Given the description of an element on the screen output the (x, y) to click on. 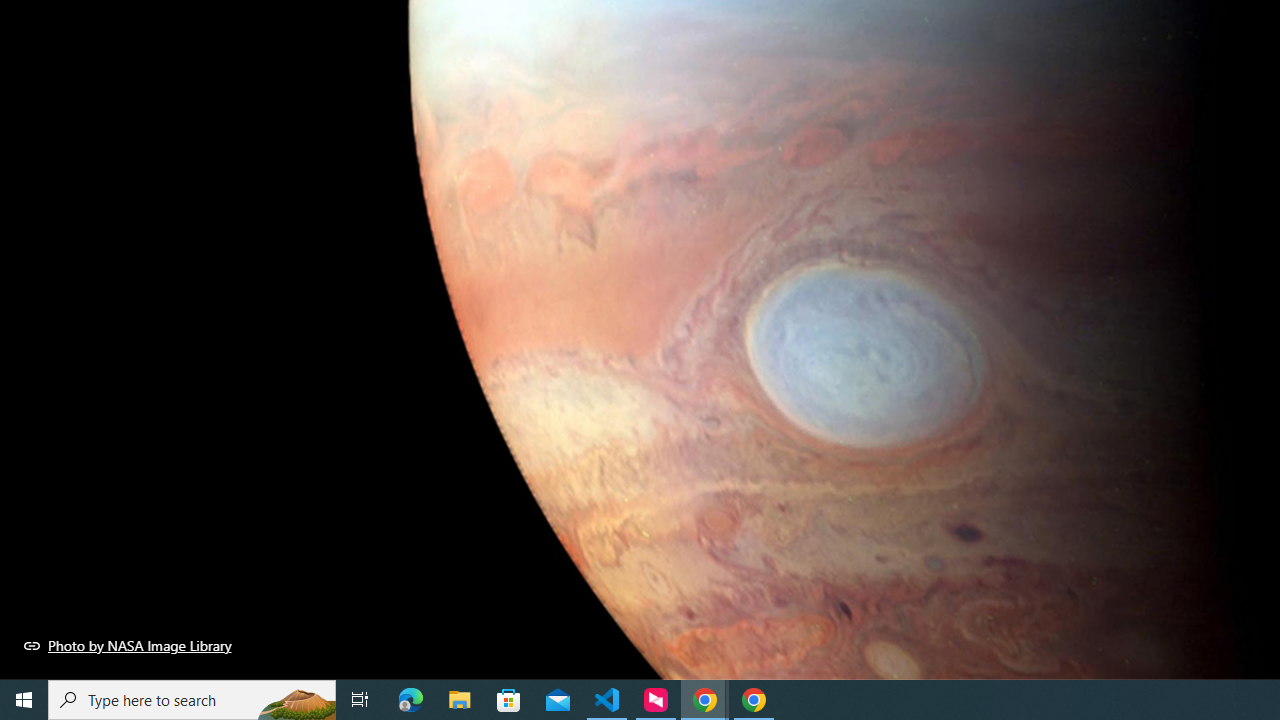
Photo by NASA Image Library (127, 645)
